Given the description of an element on the screen output the (x, y) to click on. 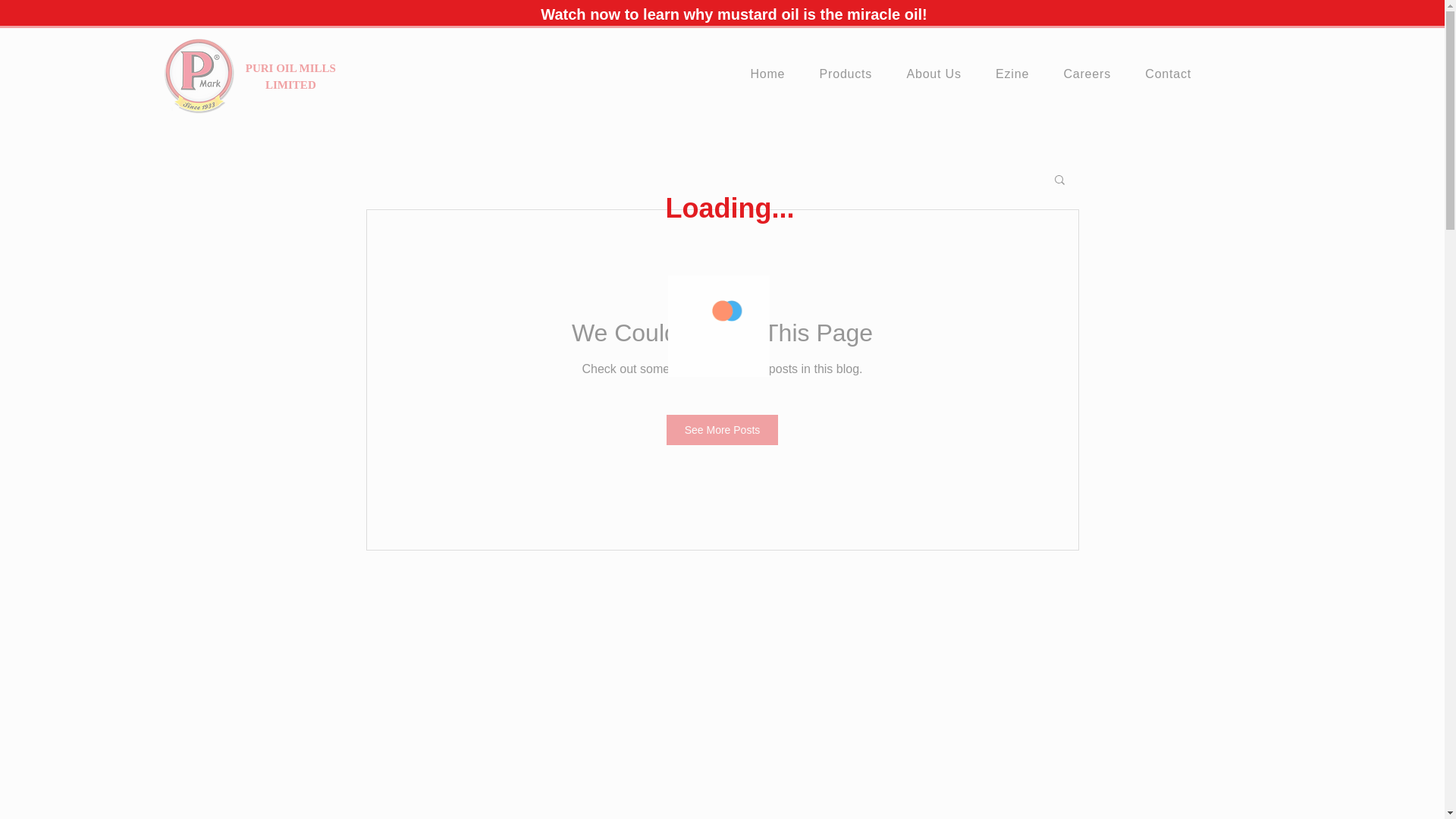
See More Posts (722, 429)
Watch now to learn why mustard oil is the miracle oil! (733, 13)
PURI OIL MILLS LIMITED (291, 75)
Contact (1174, 73)
Careers (1092, 73)
Home (773, 73)
